Given the description of an element on the screen output the (x, y) to click on. 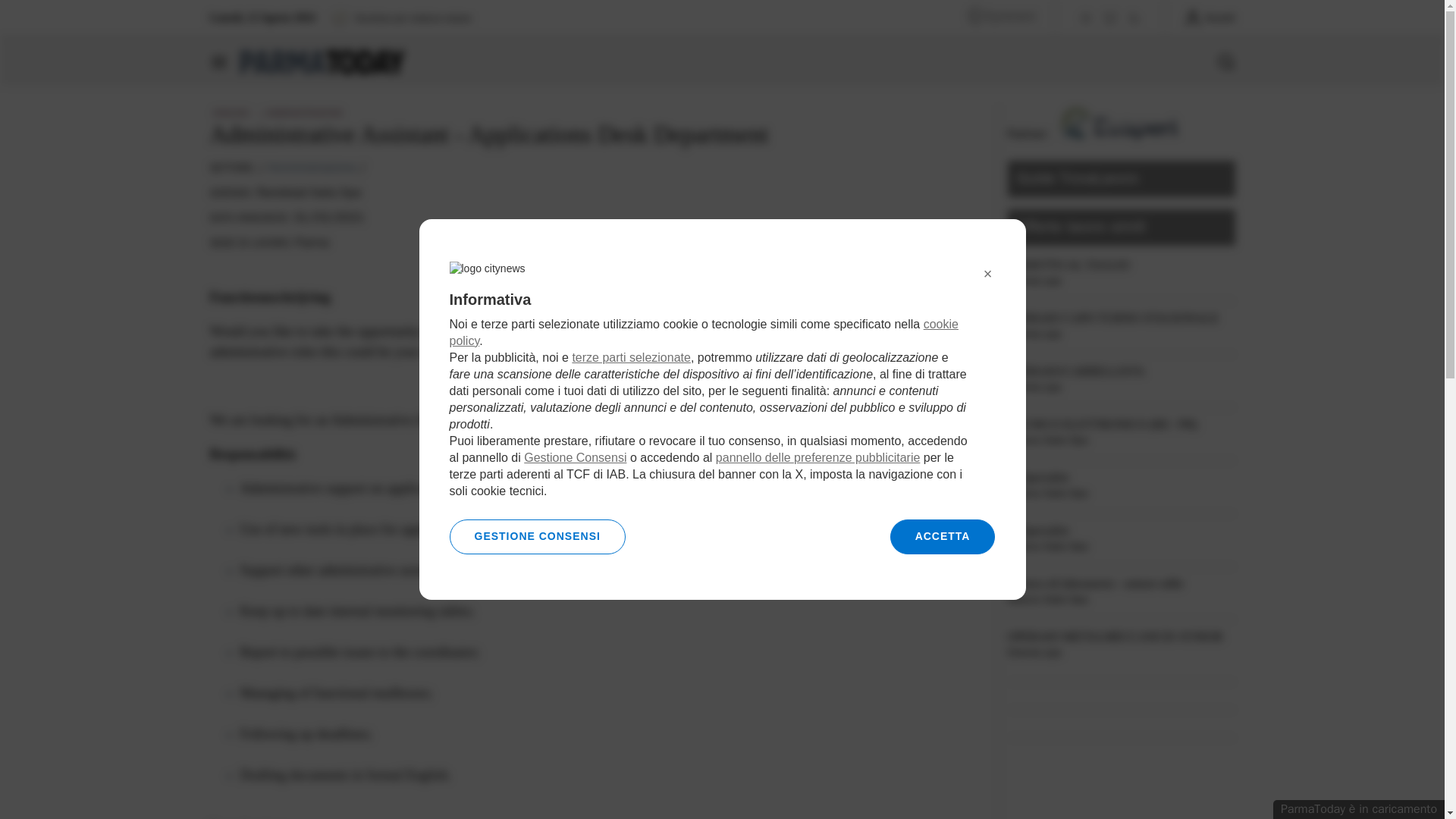
Accedi (1208, 18)
Nuvoloso per velature estese (339, 17)
IT Specialist (1120, 477)
Tecnico di laboratorio - settore edile (1120, 583)
OPERAIO CAPO TURNO STAGIONALE (1120, 318)
Il meteo a Parma: Velature sparse (399, 17)
Nuvoloso per velature estese (399, 17)
Amministrazione (311, 167)
ANNUNCI (230, 112)
Annunci lavoro amministrazione Parma (311, 167)
